Given the description of an element on the screen output the (x, y) to click on. 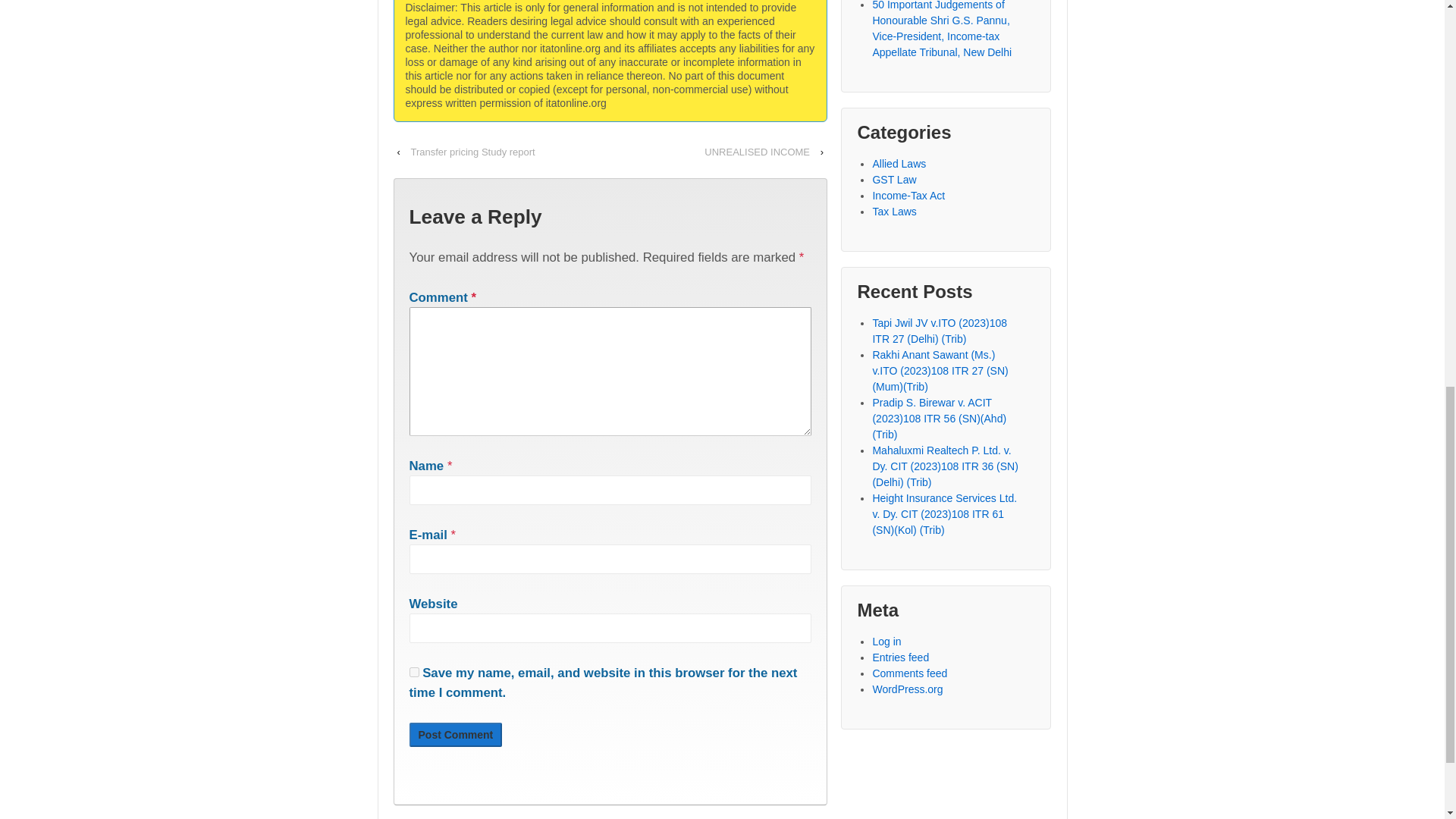
Log in (886, 641)
GST Law (893, 179)
Transfer pricing Study report (472, 151)
Entries feed (900, 657)
yes (414, 672)
Post Comment (455, 734)
Allied Laws (899, 163)
UNREALISED INCOME (756, 151)
Post Comment (455, 734)
